Given the description of an element on the screen output the (x, y) to click on. 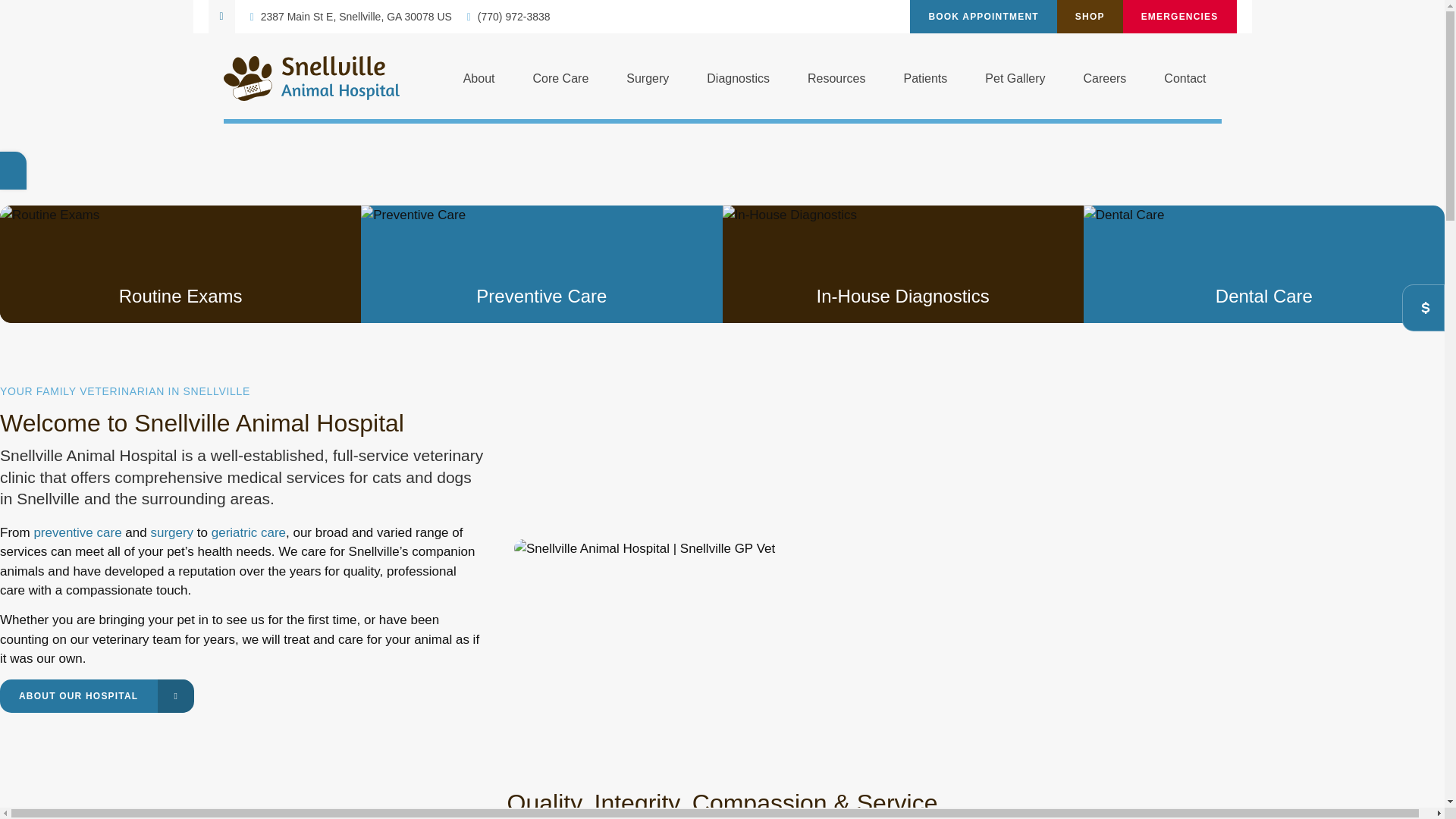
BOOK APPOINTMENT (983, 16)
2387 Main St E Snellville GA 30078 US (350, 16)
EMERGENCIES (1179, 16)
SHOP (1089, 16)
